Given the description of an element on the screen output the (x, y) to click on. 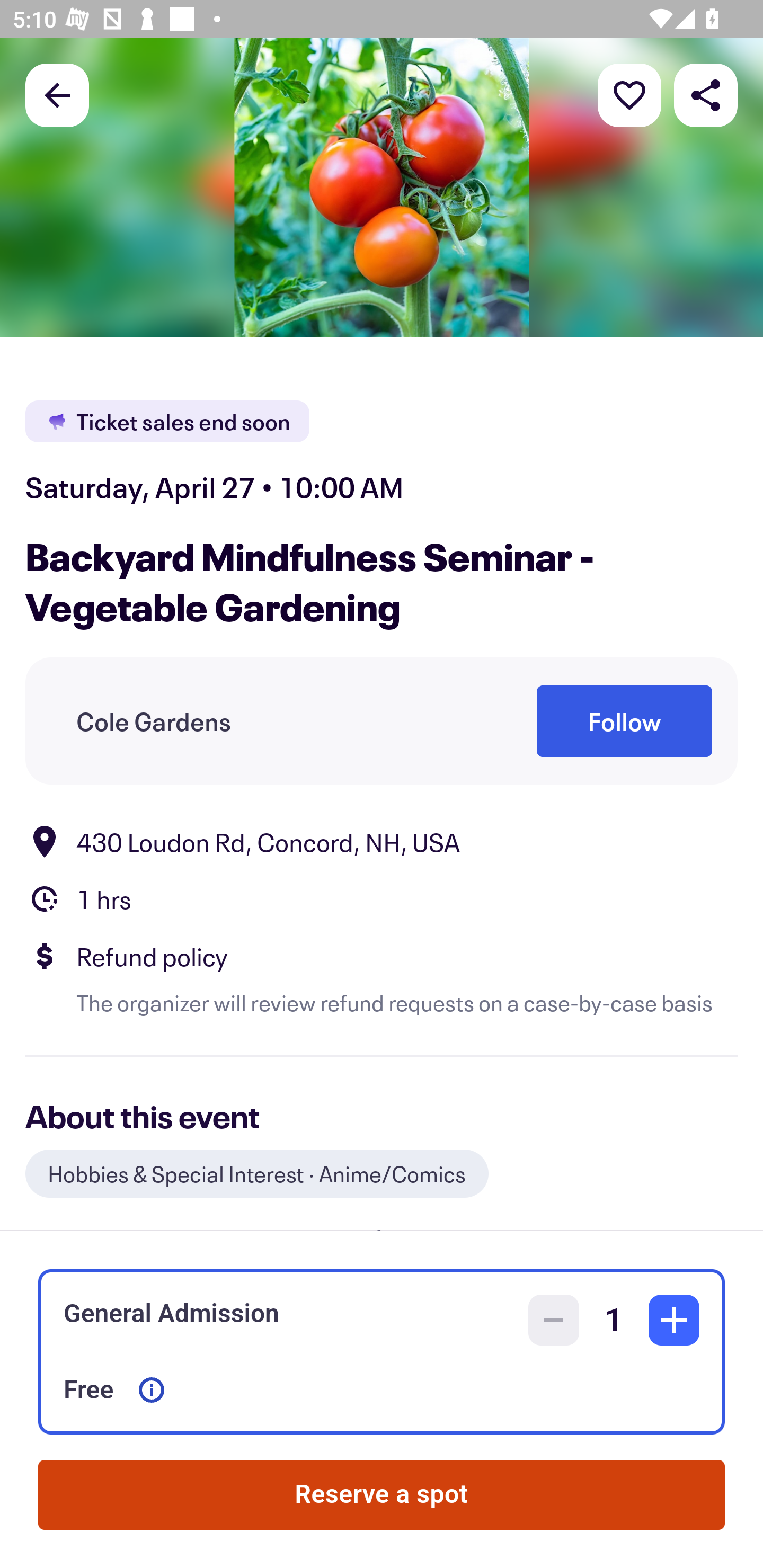
Back (57, 94)
More (629, 94)
Share (705, 94)
Cole Gardens (153, 720)
Follow (623, 720)
Location 430 Loudon Rd, Concord, NH, USA (381, 840)
